Given the description of an element on the screen output the (x, y) to click on. 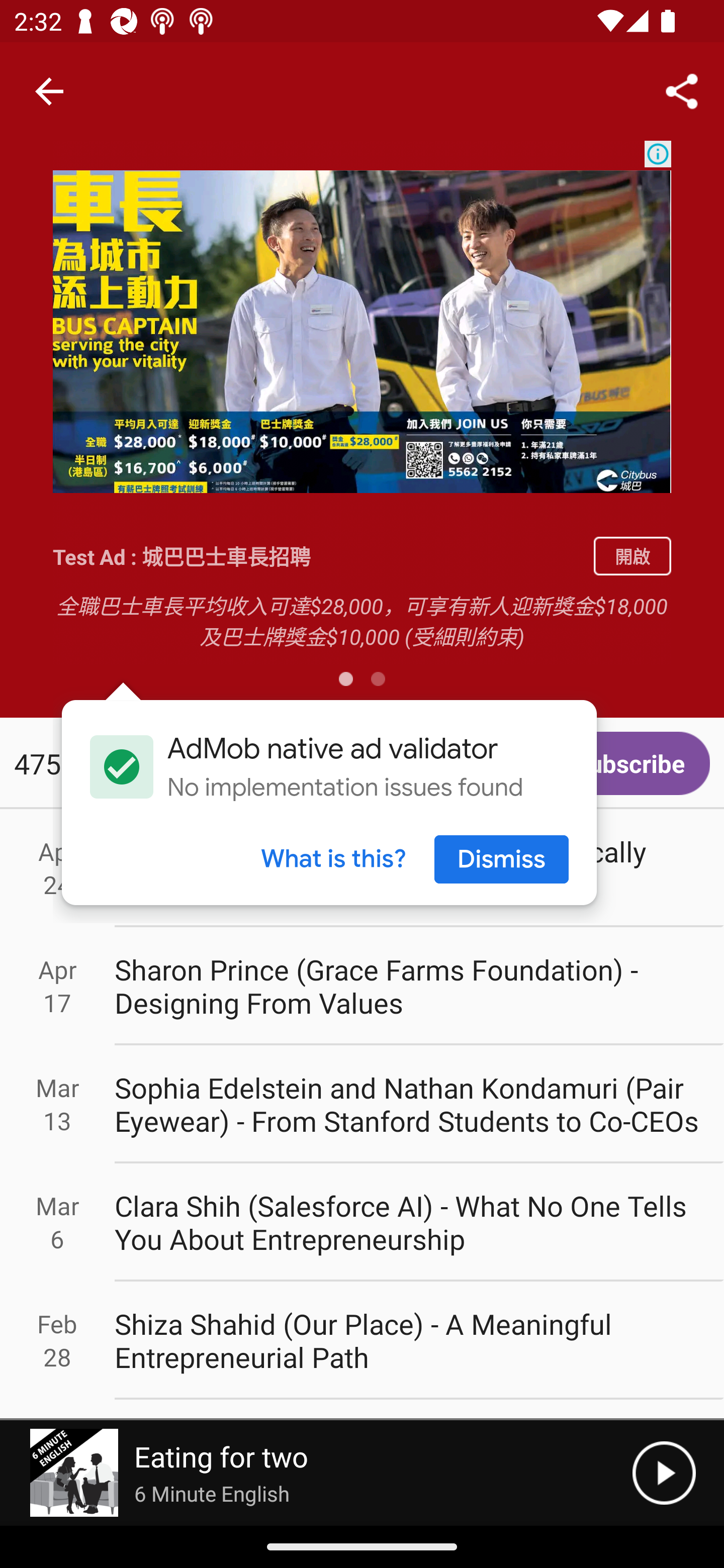
Navigate up (49, 91)
Share... (681, 90)
Ad Choices Icon (657, 154)
開啟 (632, 555)
Test Ad : 城巴巴士車長招聘 (315, 555)
Picture Eating for two 6 Minute English (316, 1472)
Play (663, 1472)
